Given the description of an element on the screen output the (x, y) to click on. 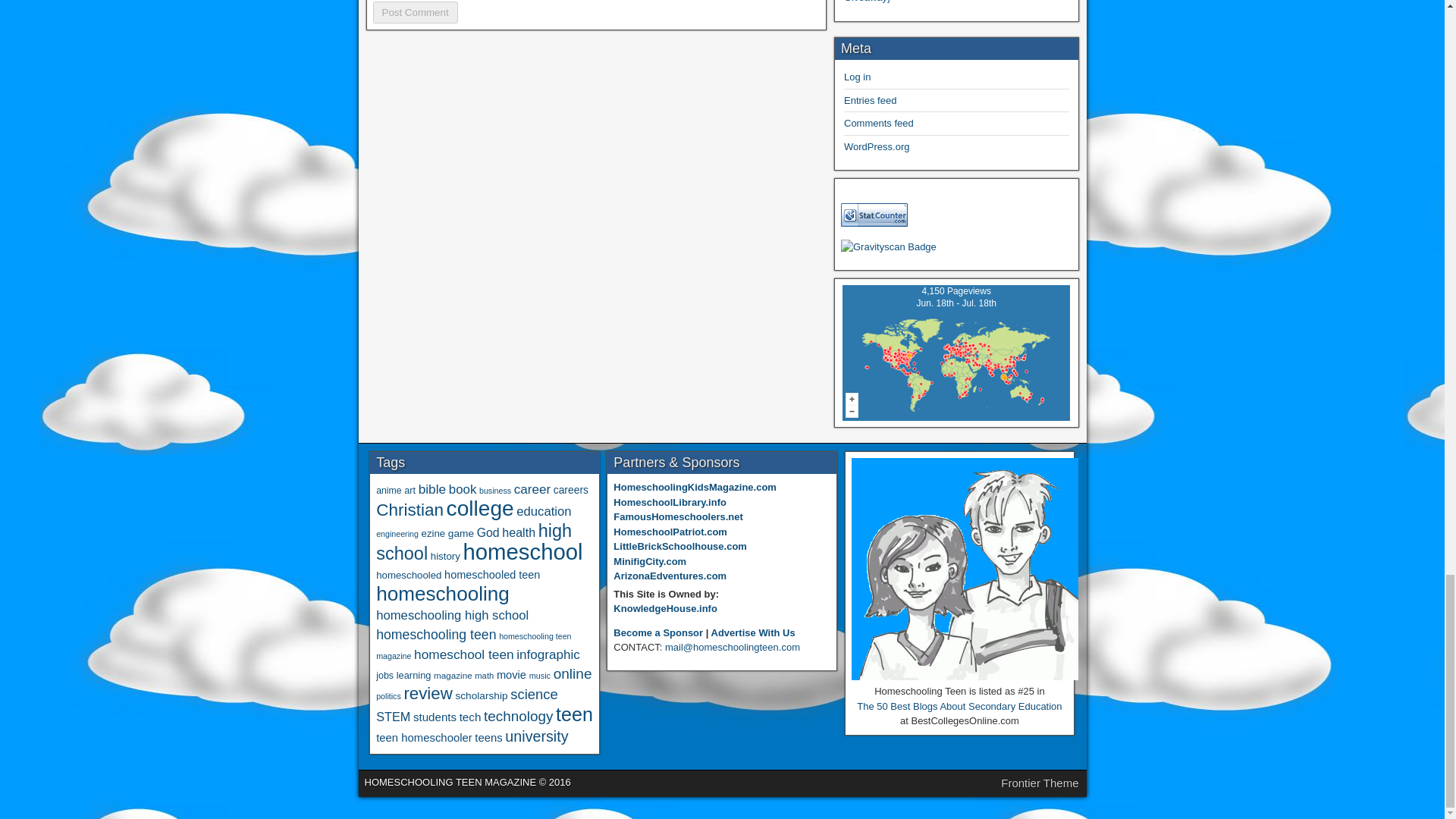
Post Comment (415, 12)
